Given the description of an element on the screen output the (x, y) to click on. 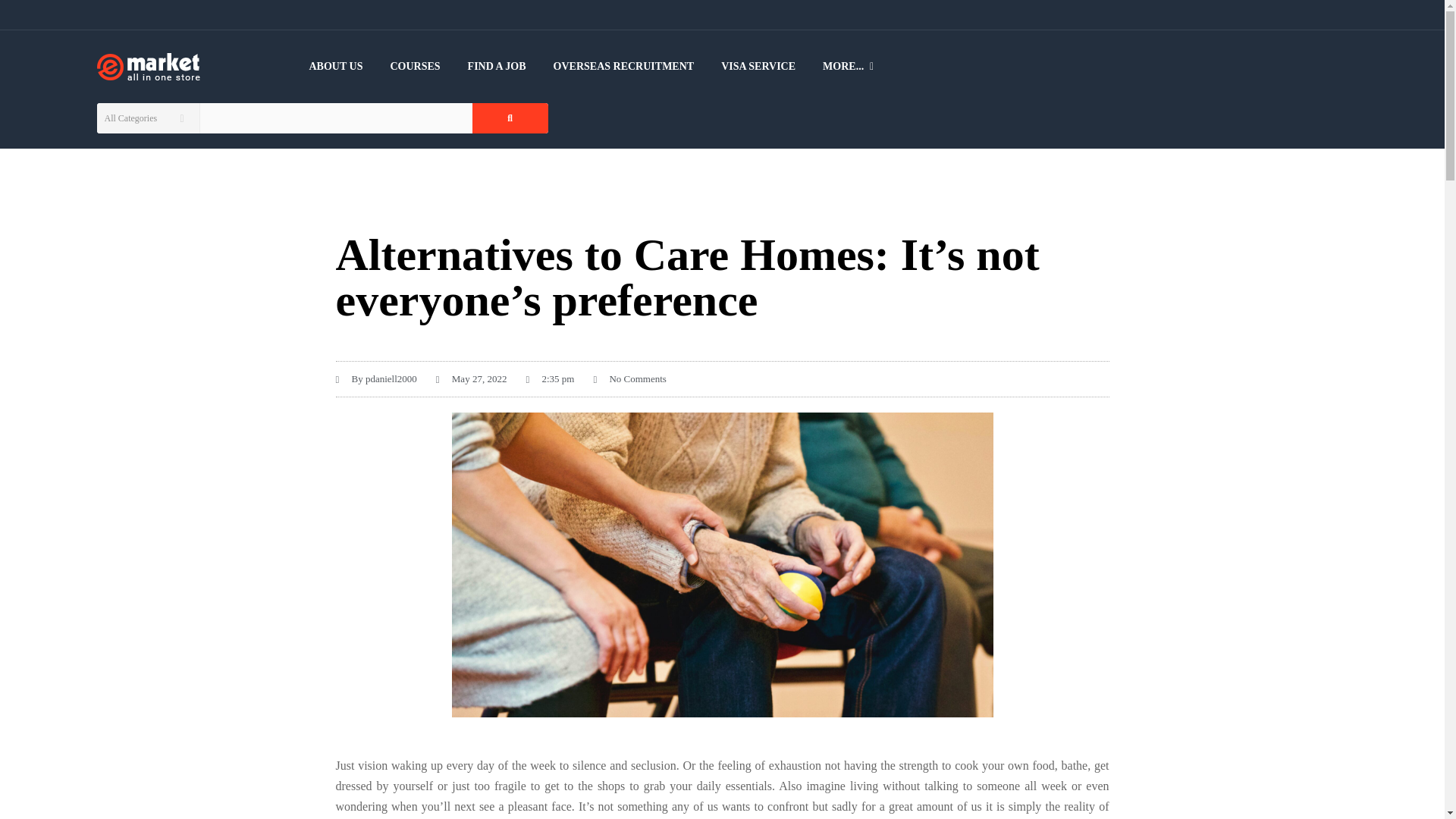
OVERSEAS RECRUITMENT (623, 66)
May 27, 2022 (470, 378)
MORE... (843, 66)
VISA SERVICE (758, 66)
No Comments (628, 378)
COURSES (413, 66)
Search (509, 118)
ABOUT US (342, 66)
FIND A JOB (497, 66)
By pdaniell2000 (375, 378)
